Given the description of an element on the screen output the (x, y) to click on. 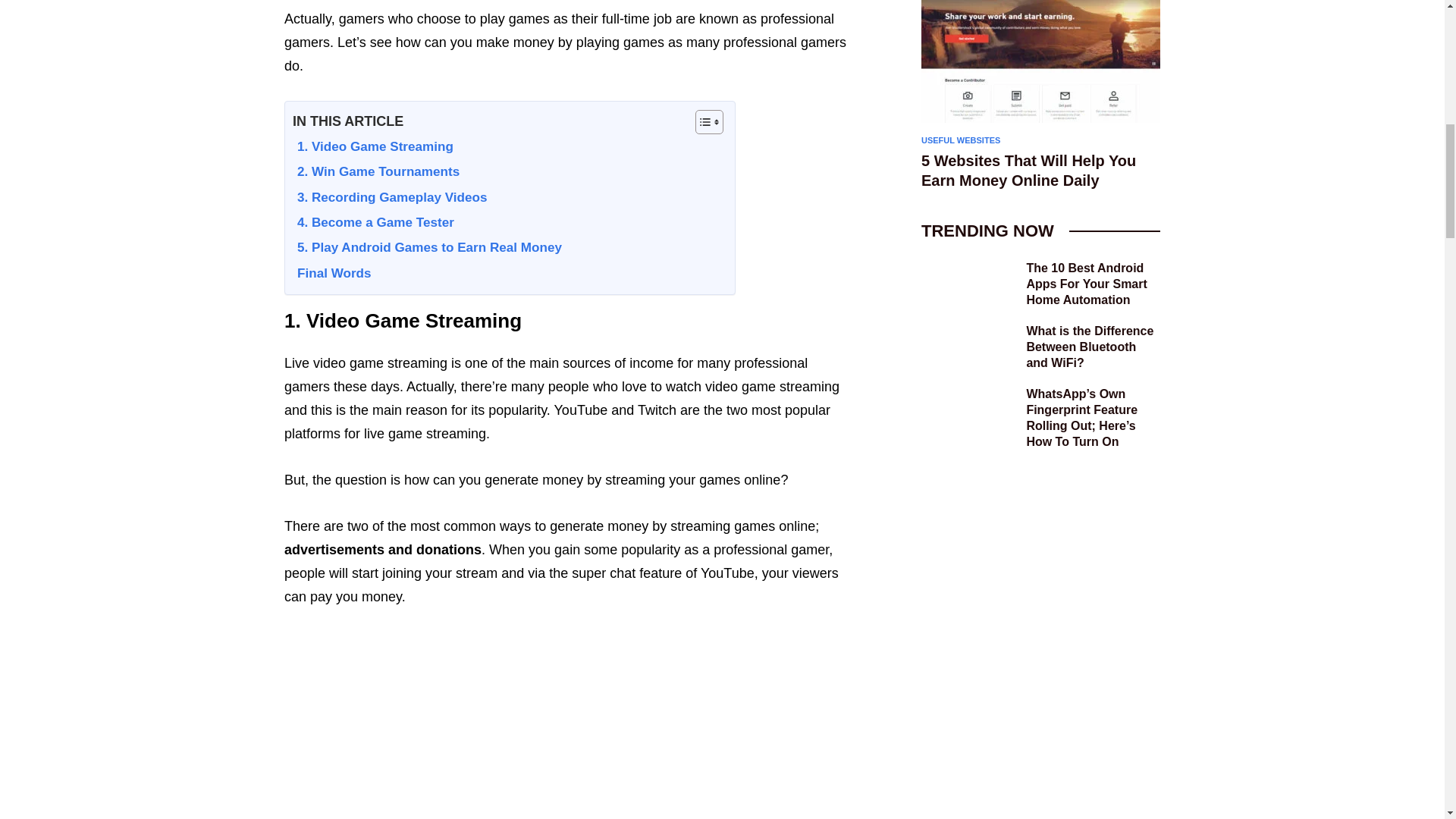
1. Video Game Streaming (372, 147)
5. Play Android Games to Earn Real Money (427, 248)
2. Win Game Tournaments (376, 172)
Final Words (331, 273)
The 10 Best Android Apps For Your Smart Home Automation (1093, 283)
2. Win Game Tournaments (376, 172)
4. Become a Game Tester (373, 222)
3. Recording Gameplay Videos (389, 197)
5 Websites That Will Help You Earn Money Online Daily (1040, 170)
1. Video Game Streaming (372, 147)
